Given the description of an element on the screen output the (x, y) to click on. 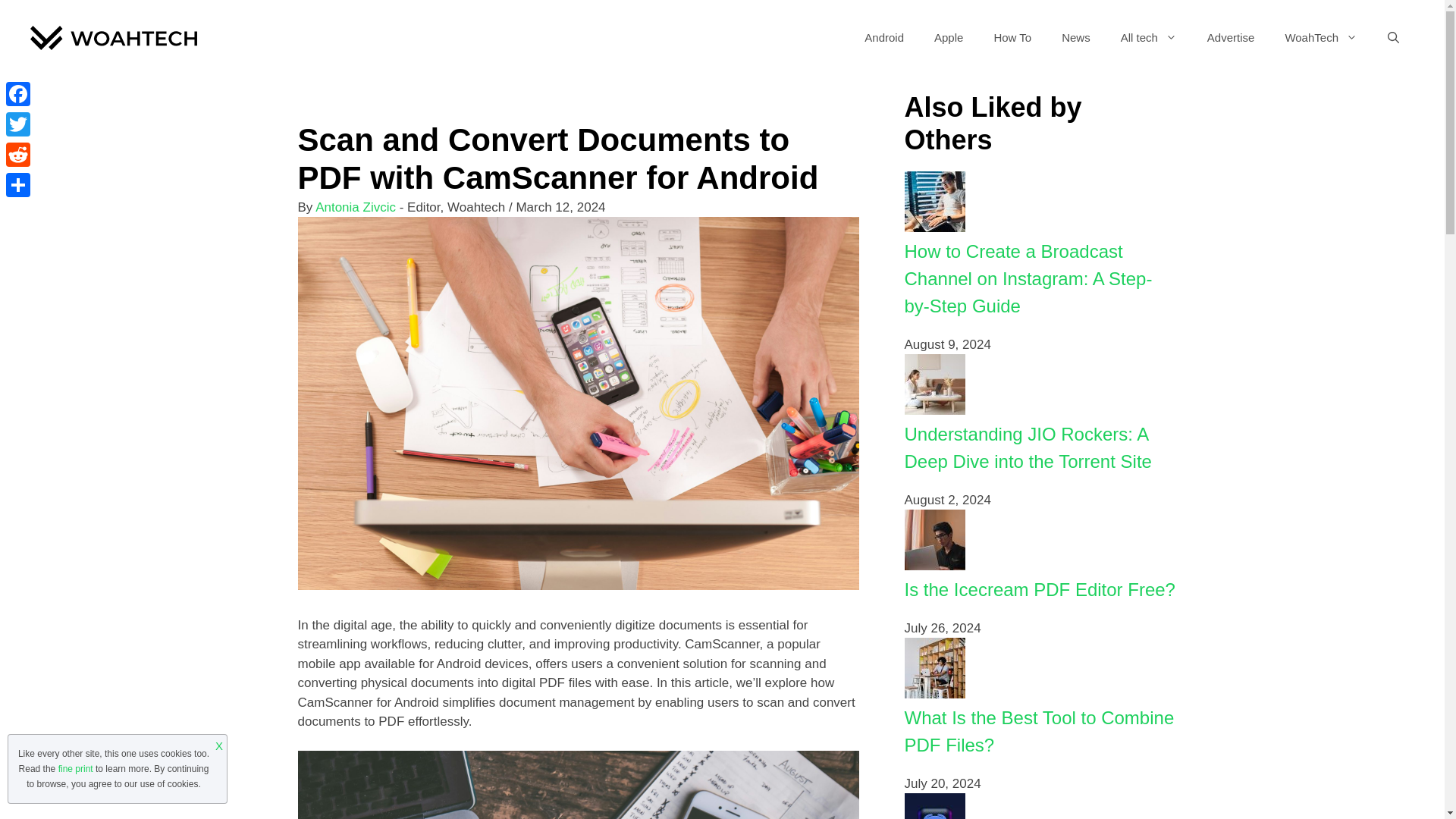
WoahTech (1321, 37)
Understanding JIO Rockers: A Deep Dive into the Torrent Site (1027, 447)
News (1075, 37)
What Is the Best Tool to Combine PDF Files? (1038, 731)
Apple (948, 37)
All tech (1148, 37)
Is the Icecream PDF Editor Free? (933, 565)
Is the Icecream PDF Editor Free? (1039, 589)
Antonia Zivcic (355, 206)
